Given the description of an element on the screen output the (x, y) to click on. 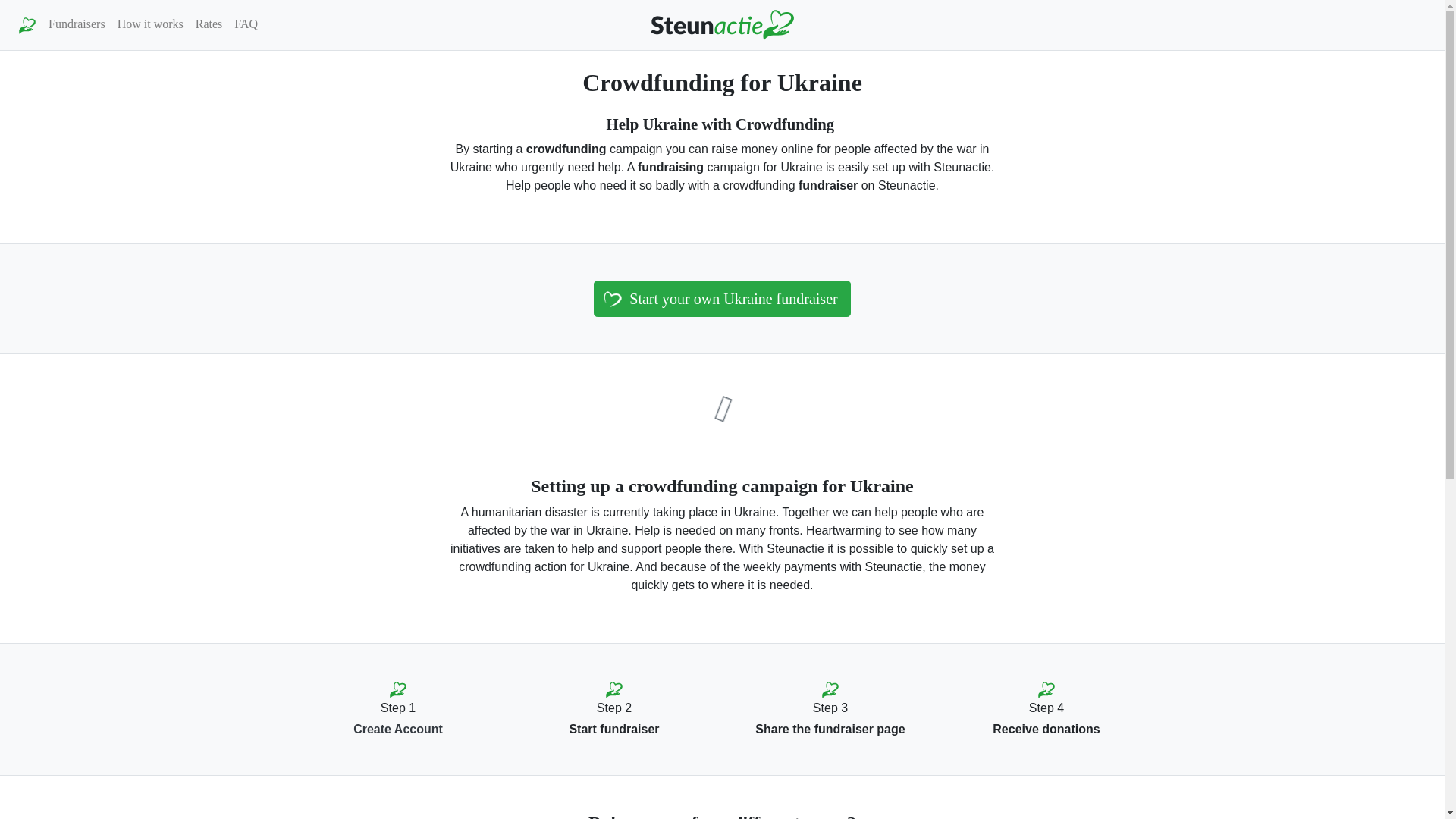
Fundraisers (77, 24)
FAQ (245, 24)
Steunactie (26, 24)
Steunactie (721, 24)
Frequently asked questions (245, 24)
Start your fundraiser (722, 298)
Create Account (397, 728)
How it works (150, 24)
Fundraisers (77, 24)
How it works (150, 24)
Create Account (397, 728)
Rates (208, 24)
Start your own Ukraine fundraiser (722, 298)
Rates (208, 24)
